Given the description of an element on the screen output the (x, y) to click on. 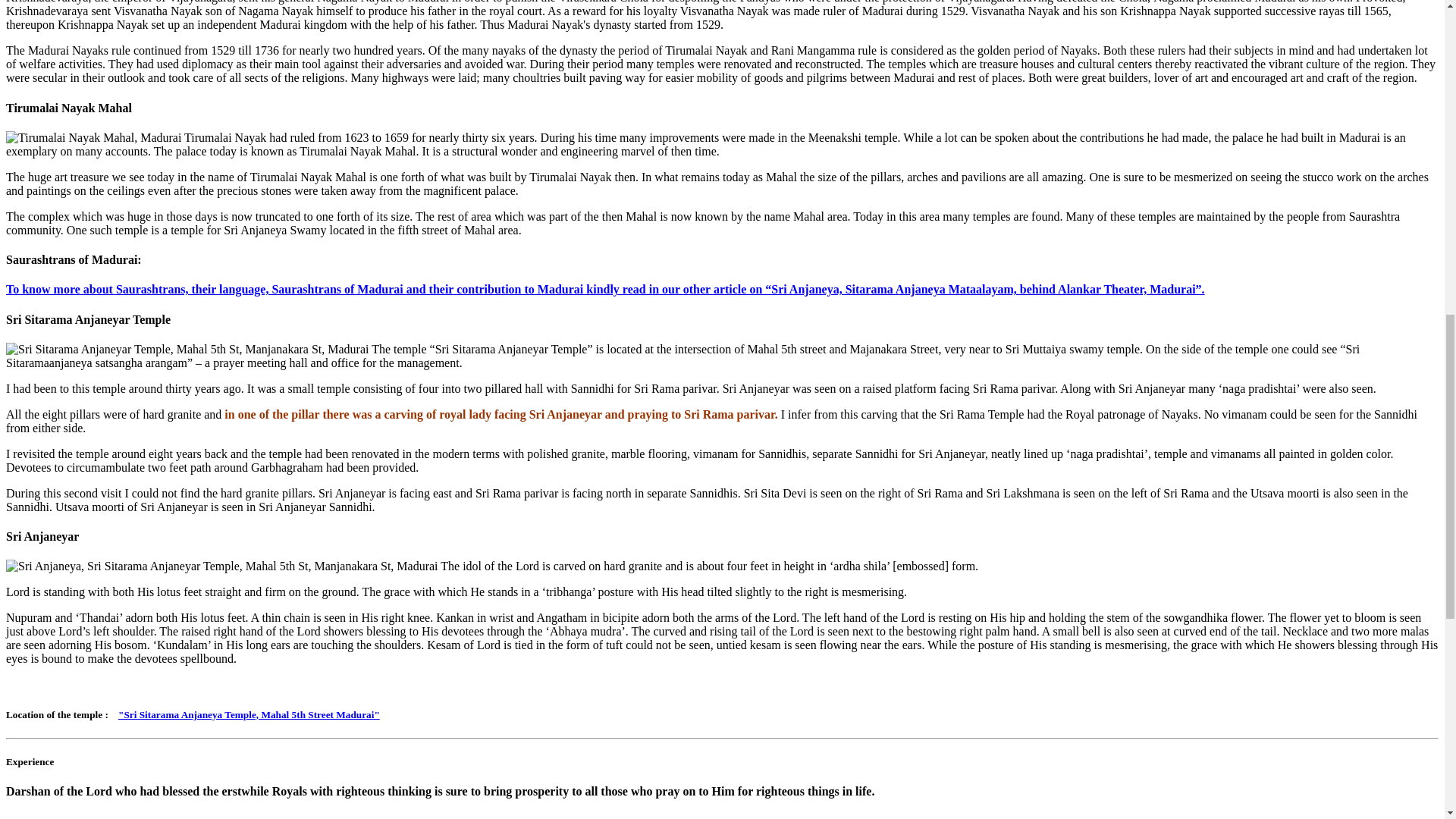
Tirumalai Nayak Mahal, Madurai (92, 137)
